Given the description of an element on the screen output the (x, y) to click on. 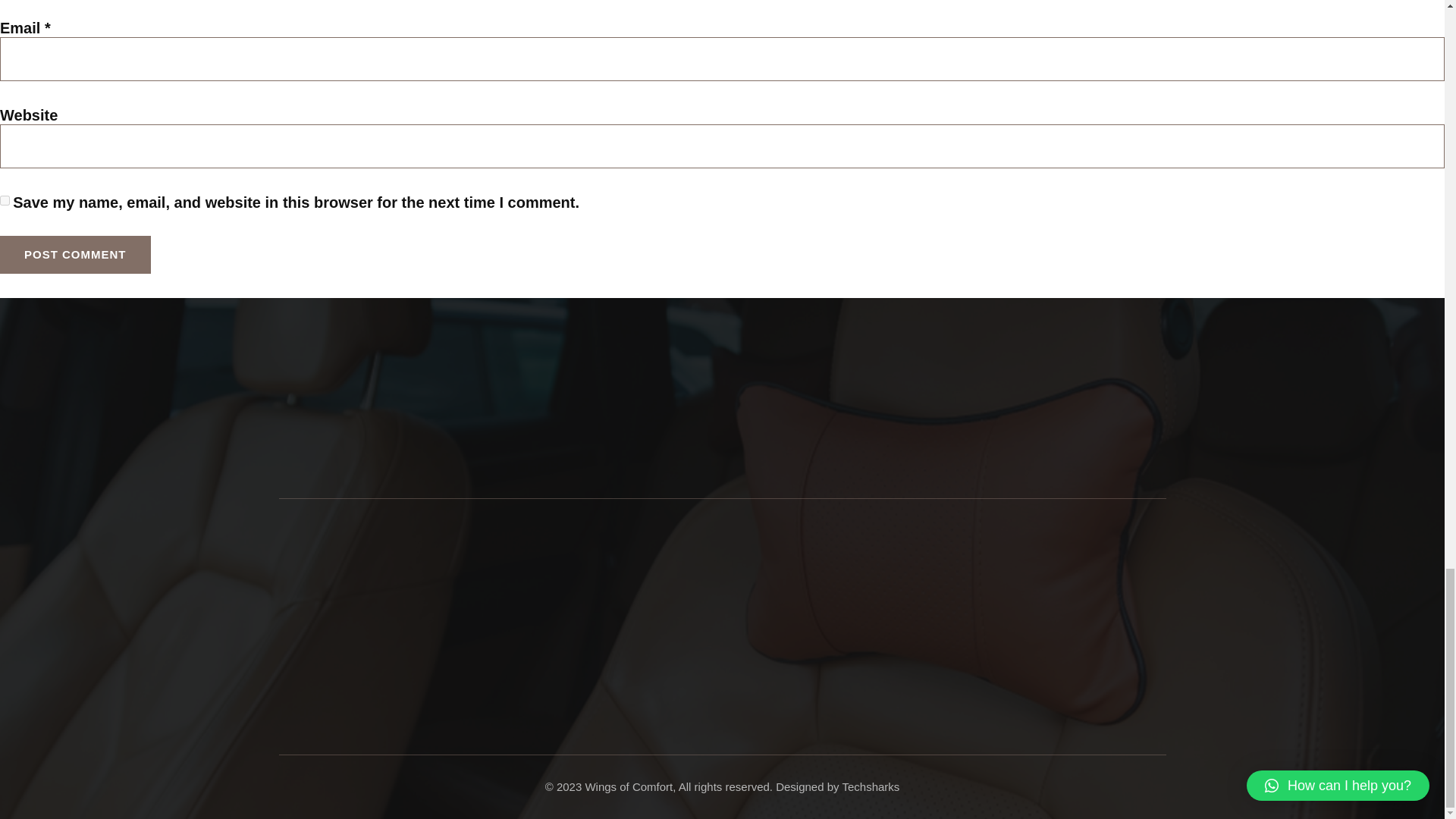
Post Comment (75, 254)
yes (5, 200)
Post Comment (75, 254)
